Given the description of an element on the screen output the (x, y) to click on. 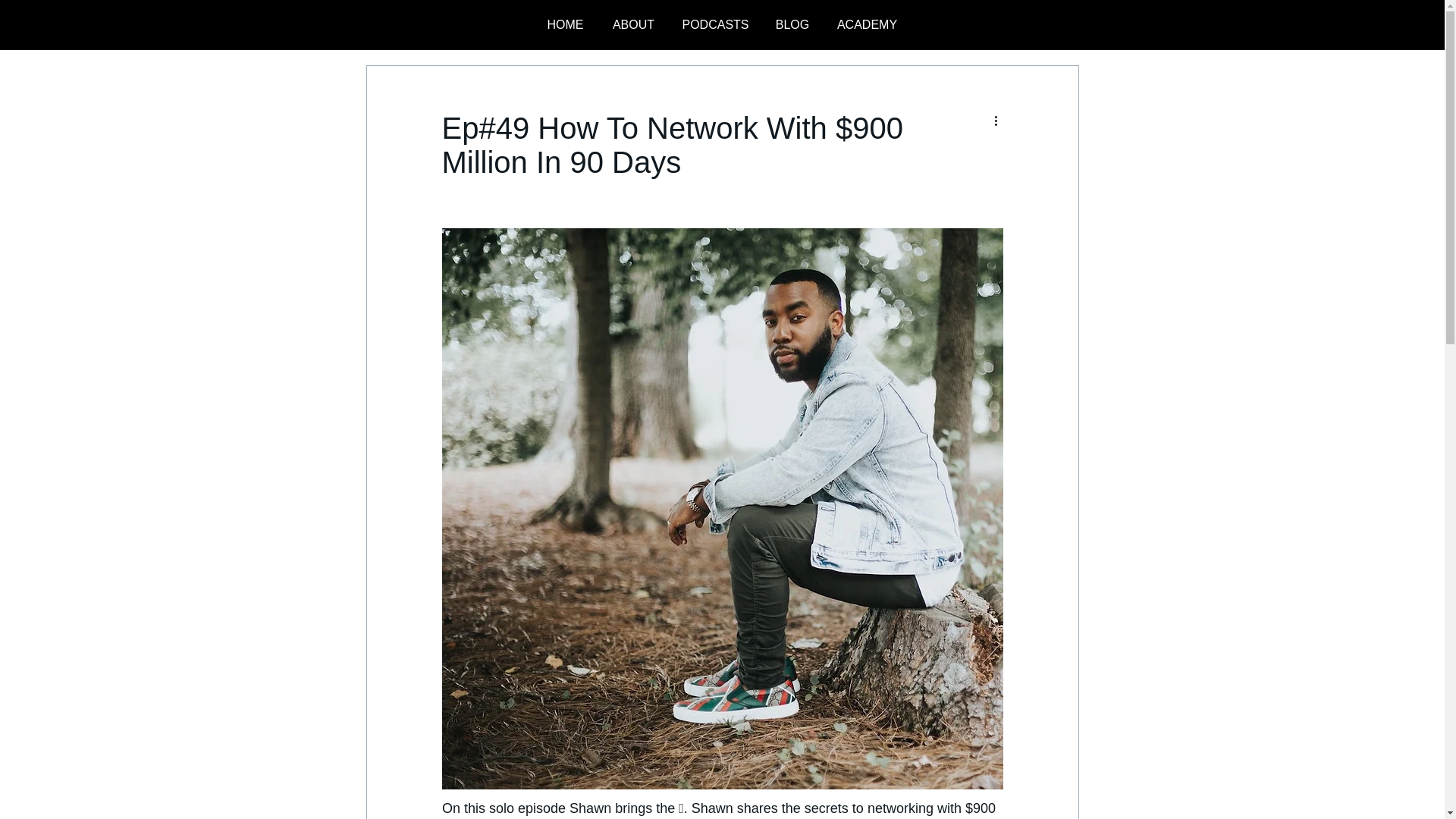
BLOG (791, 24)
ACADEMY (867, 24)
HOME (564, 24)
PODCASTS (714, 24)
ABOUT (632, 24)
